Given the description of an element on the screen output the (x, y) to click on. 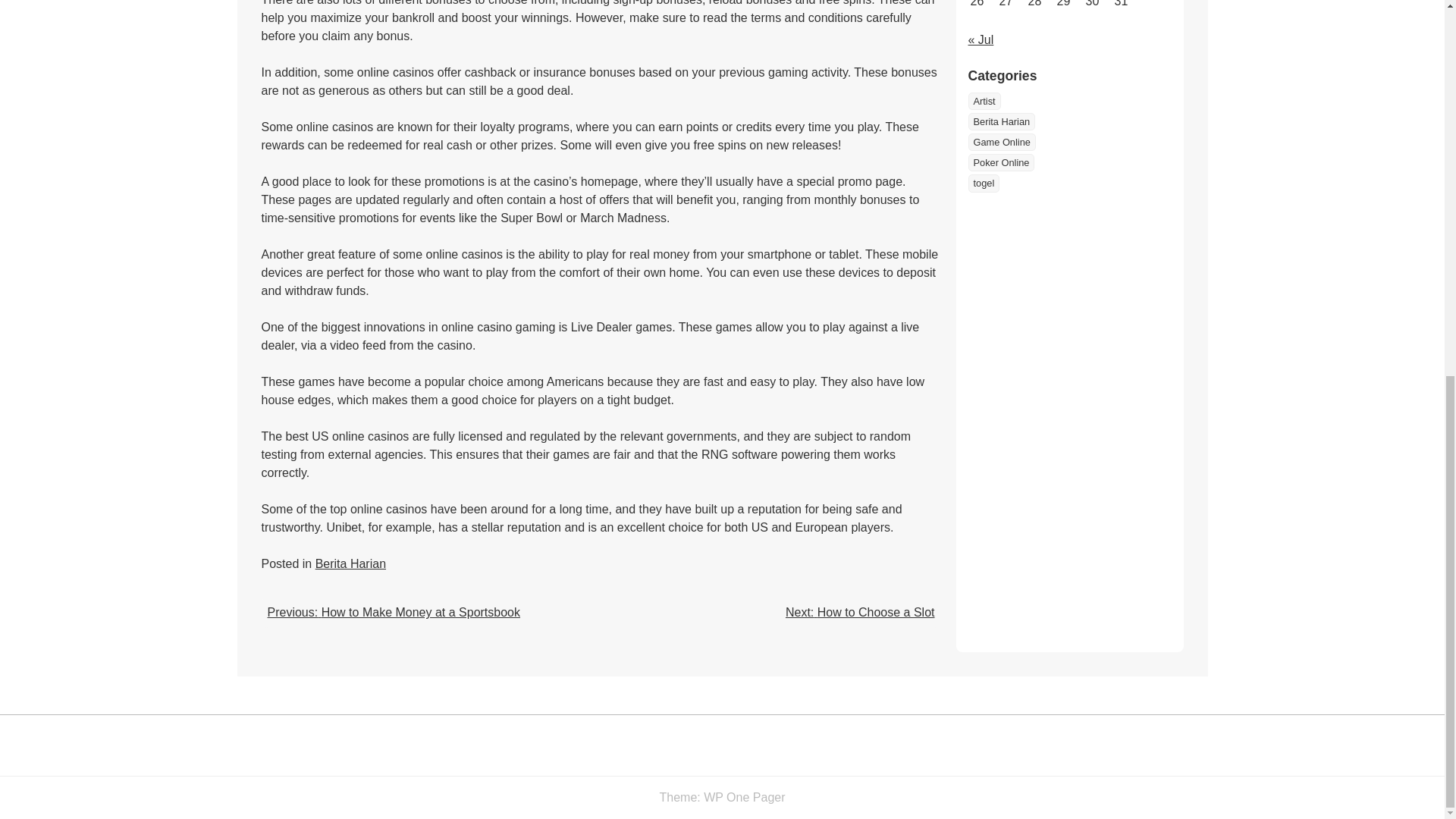
Berita Harian (1001, 121)
Poker Online (1000, 162)
Next: How to Choose a Slot (860, 612)
Berita Harian (1001, 121)
Previous: How to Make Money at a Sportsbook (392, 612)
Artist (984, 100)
Berita Harian (350, 563)
WP One Pager (743, 797)
Game Online (1001, 141)
togel (983, 182)
